Given the description of an element on the screen output the (x, y) to click on. 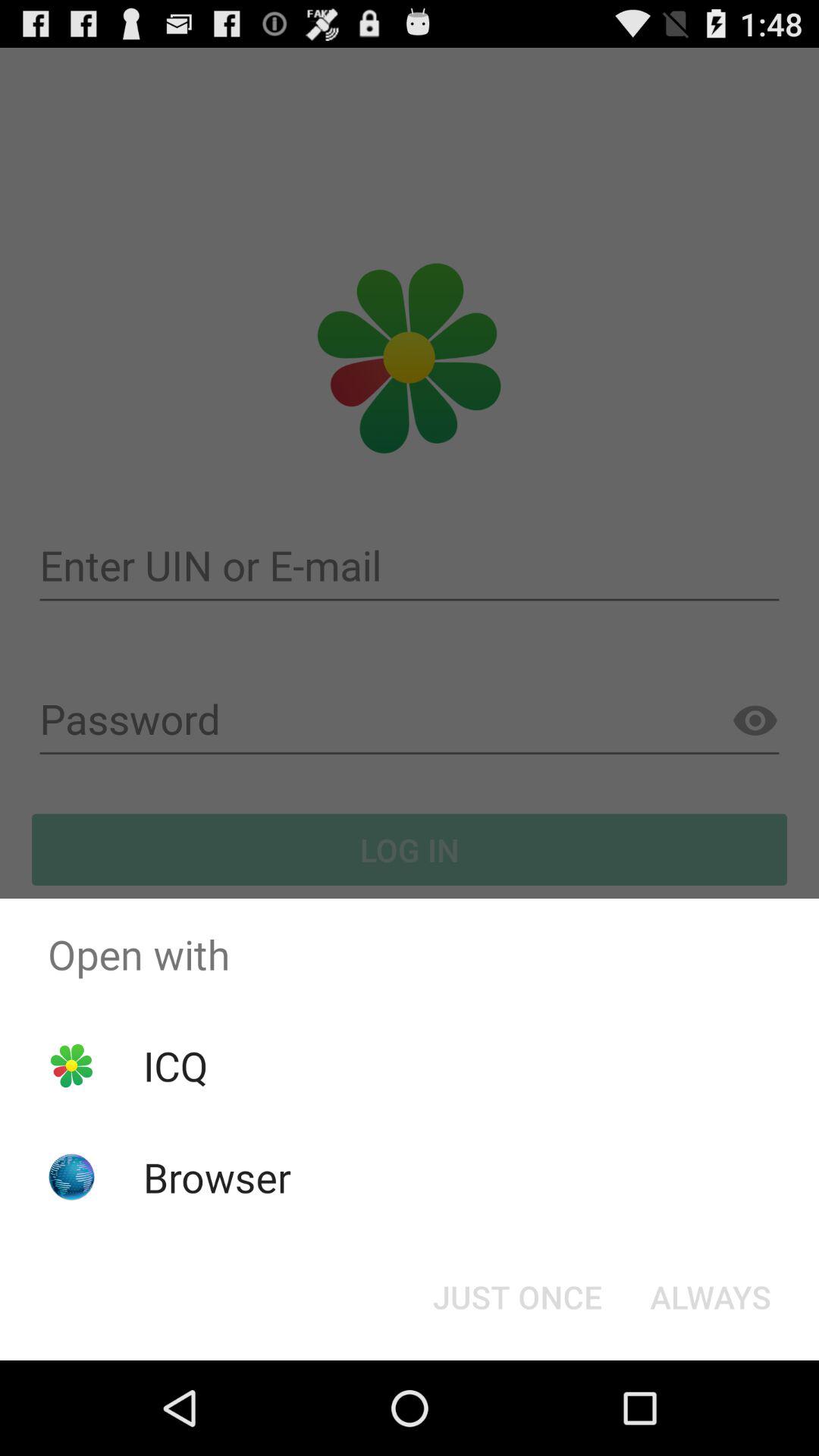
tap item at the bottom right corner (710, 1296)
